Given the description of an element on the screen output the (x, y) to click on. 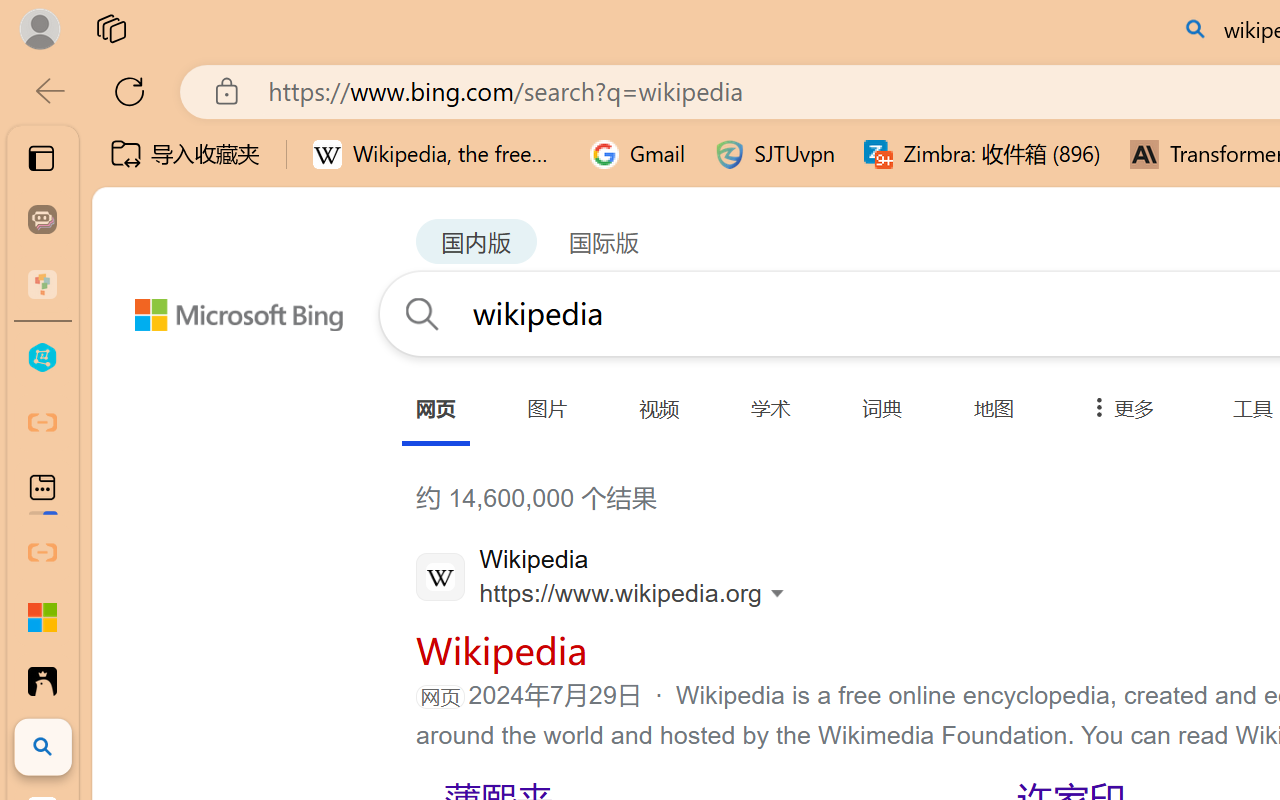
Wikipedia, the free encyclopedia (437, 154)
Wikipedia (500, 649)
SJTUvpn (774, 154)
